Given the description of an element on the screen output the (x, y) to click on. 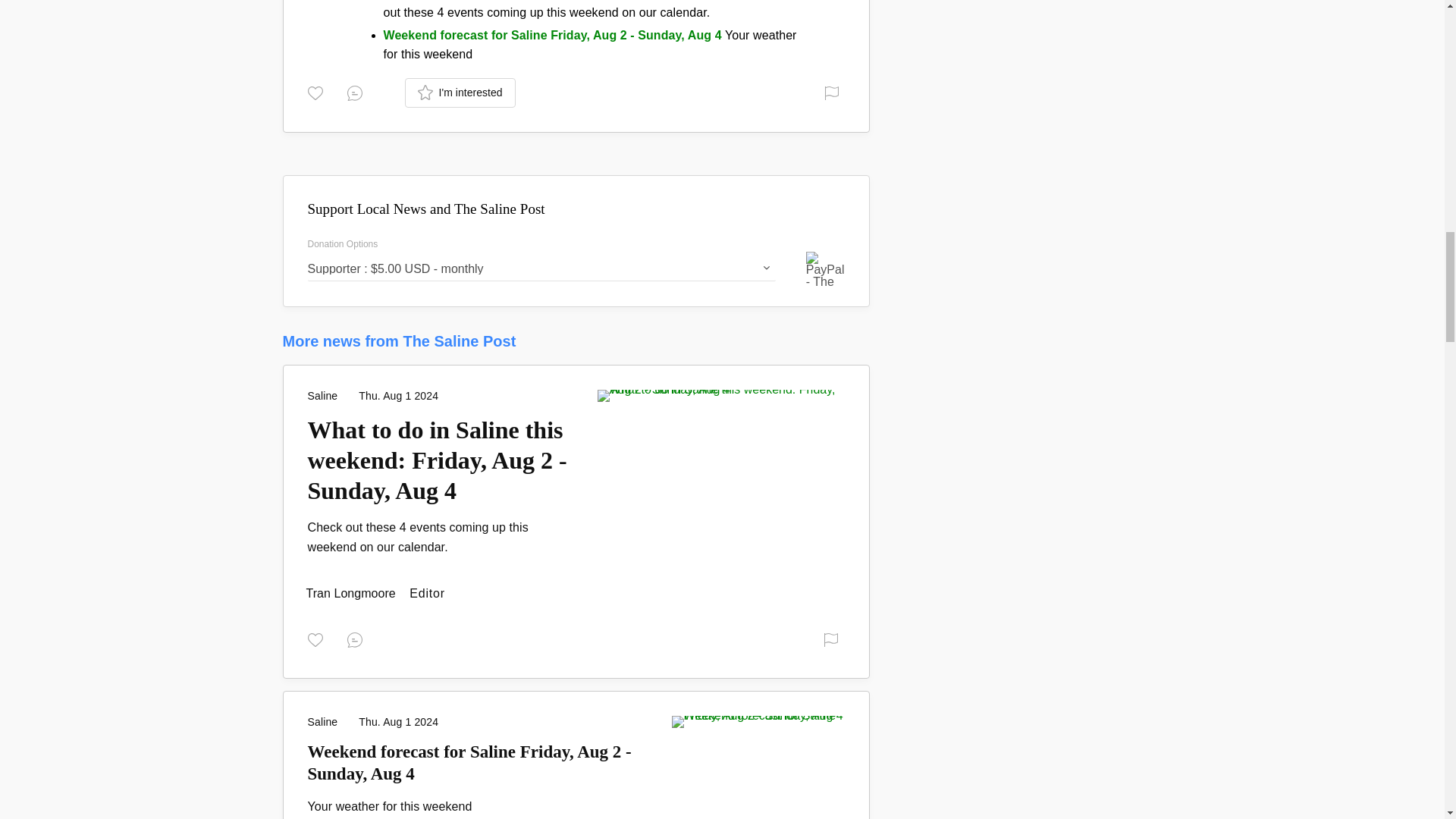
Thank (318, 91)
Reply (357, 91)
Thank (318, 639)
Reply (357, 639)
Editor (351, 593)
